Given the description of an element on the screen output the (x, y) to click on. 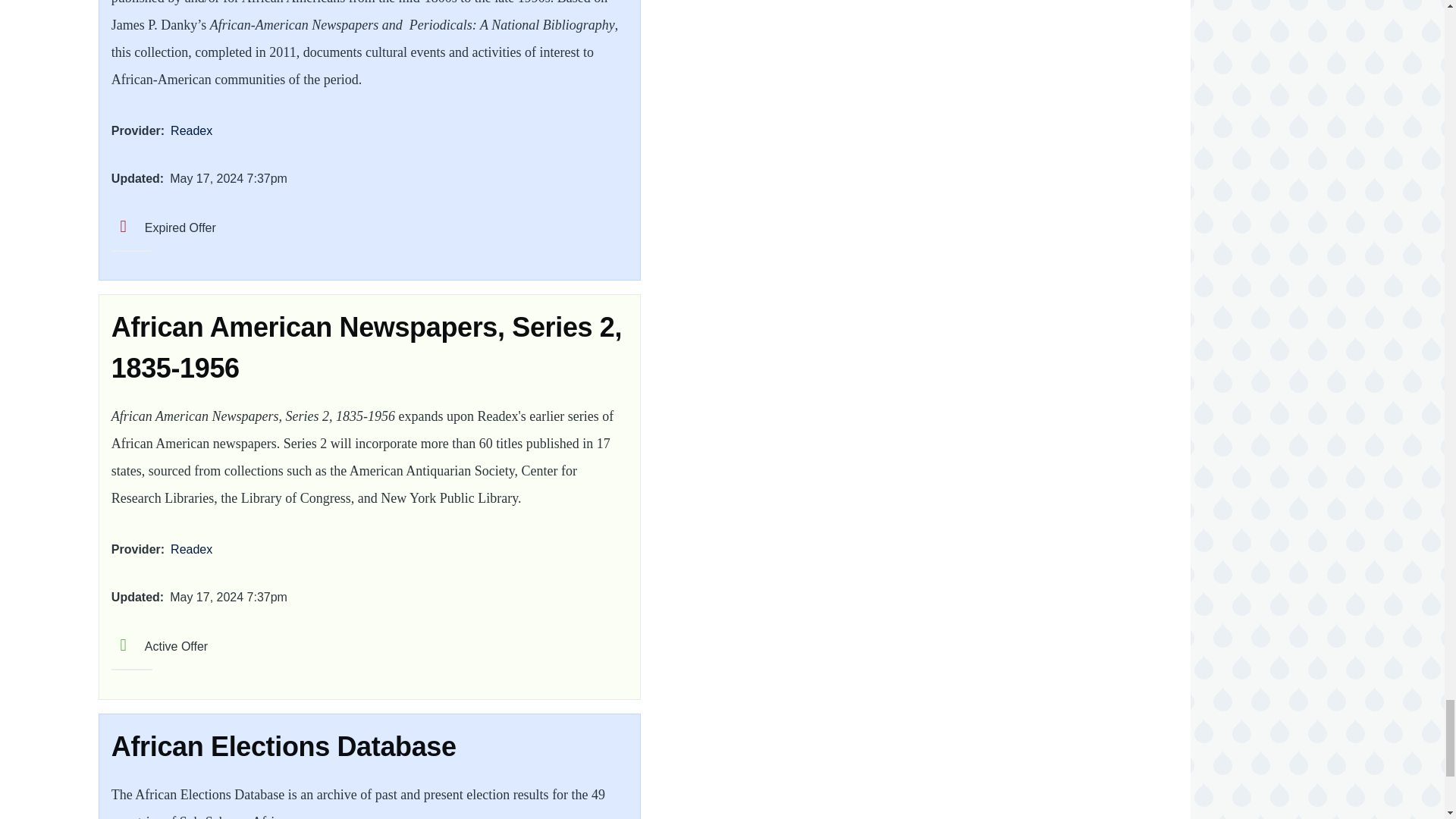
Expired Offer (163, 227)
Active Offer (160, 645)
